Given the description of an element on the screen output the (x, y) to click on. 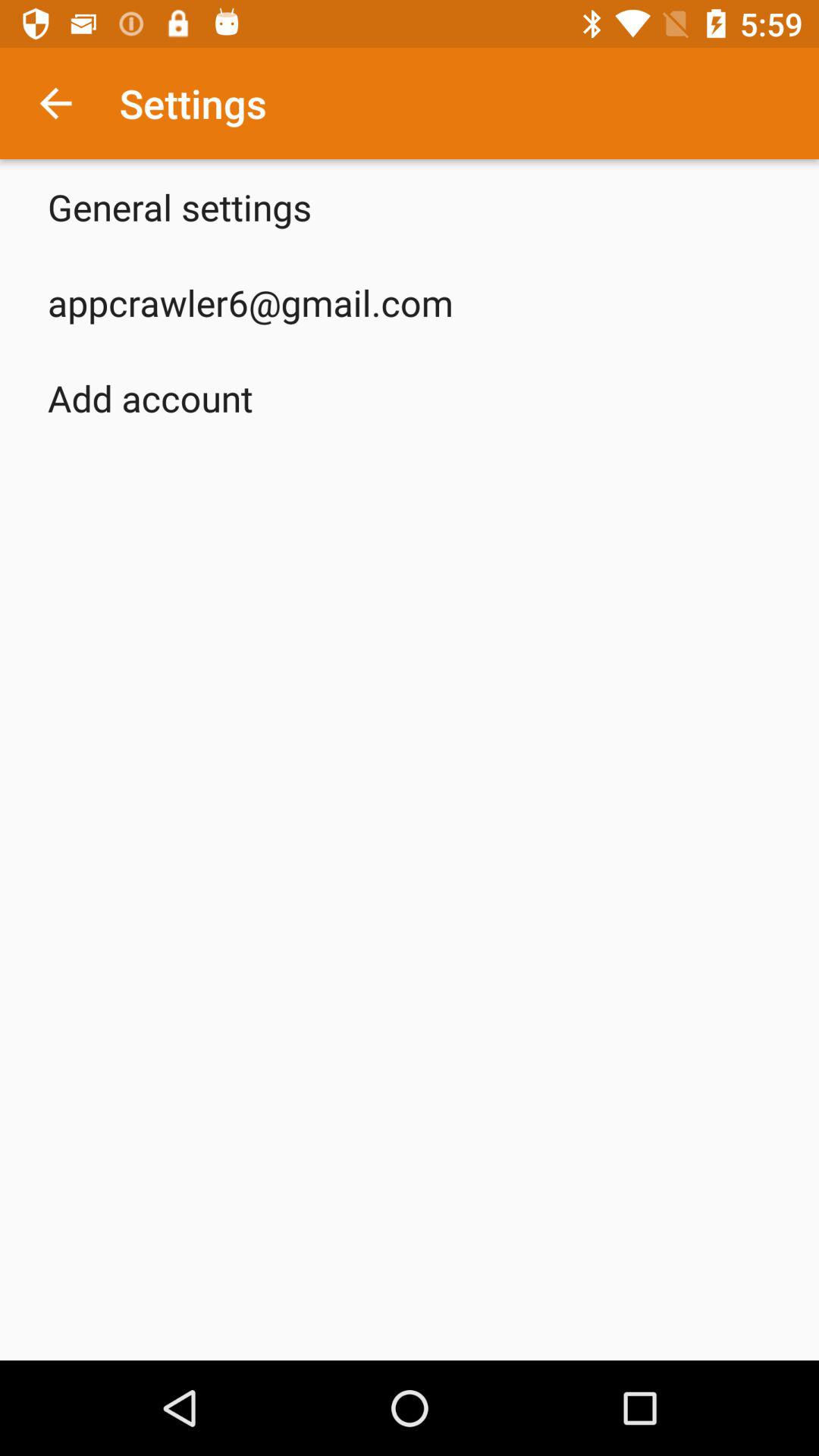
turn on the item above the add account app (250, 302)
